Given the description of an element on the screen output the (x, y) to click on. 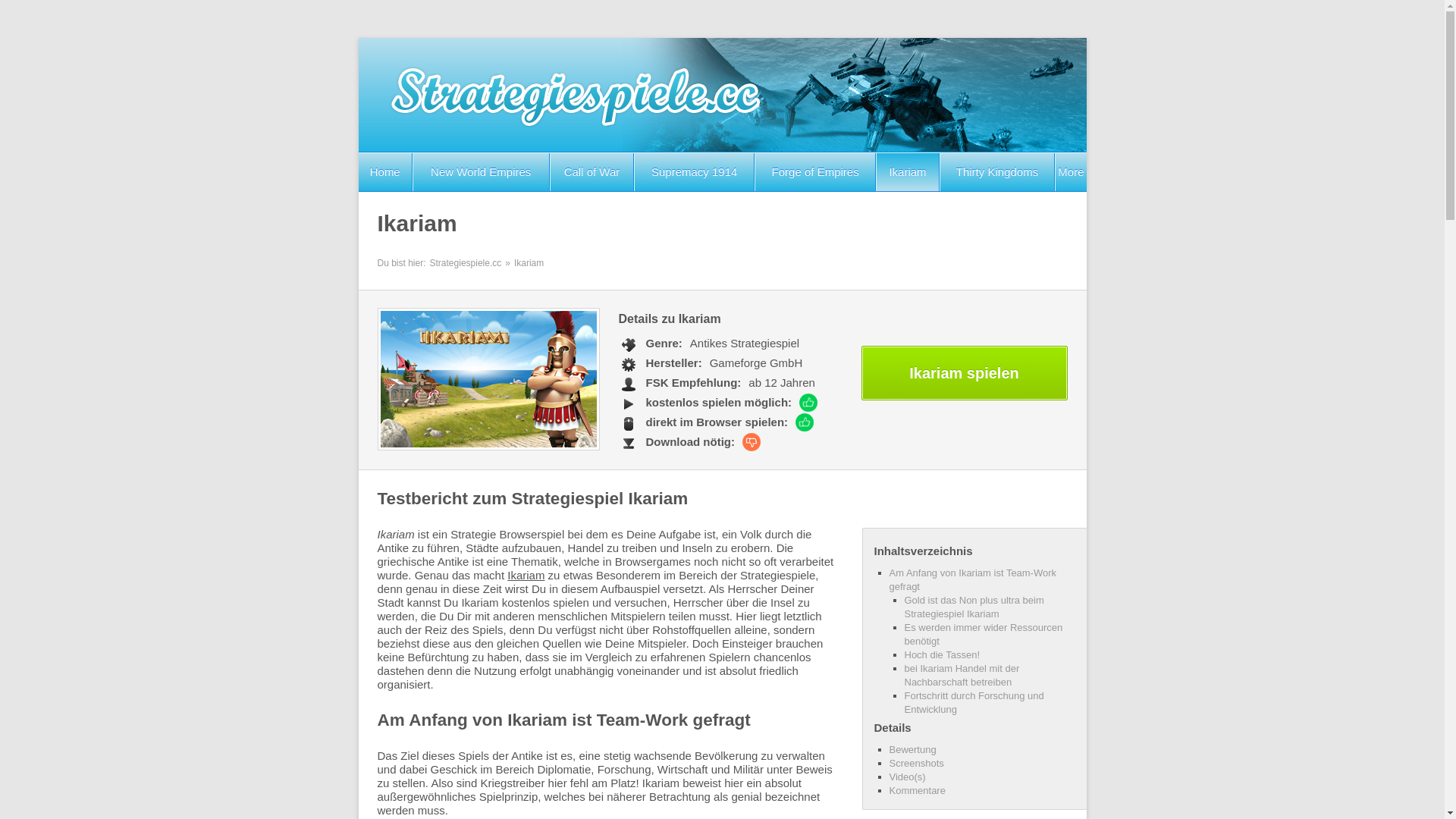
Am Anfang von Ikariam ist Team-Work gefragt Element type: text (972, 579)
Kommentare Element type: text (916, 790)
Fortschritt durch Forschung und Entwicklung Element type: text (973, 702)
Supremacy 1914 Element type: text (693, 172)
Forge of Empires Element type: text (815, 172)
Ikariam Element type: text (907, 172)
New World Empires Element type: text (481, 172)
Gold ist das Non plus ultra beim Strategiespiel Ikariam Element type: text (973, 606)
Thirty Kingdoms Element type: text (997, 172)
Call of War Element type: text (591, 172)
Strategiespiele.cc Element type: text (465, 262)
bei Ikariam Handel mit der Nachbarschaft betreiben Element type: text (961, 674)
Screenshots Element type: text (915, 762)
Bewertung Element type: text (911, 749)
Hoch die Tassen! Element type: text (941, 654)
strategiespiele.cc Element type: text (721, 94)
Video(s) Element type: text (906, 776)
Home Element type: text (384, 172)
Ikariam spielen Element type: text (964, 372)
